Given the description of an element on the screen output the (x, y) to click on. 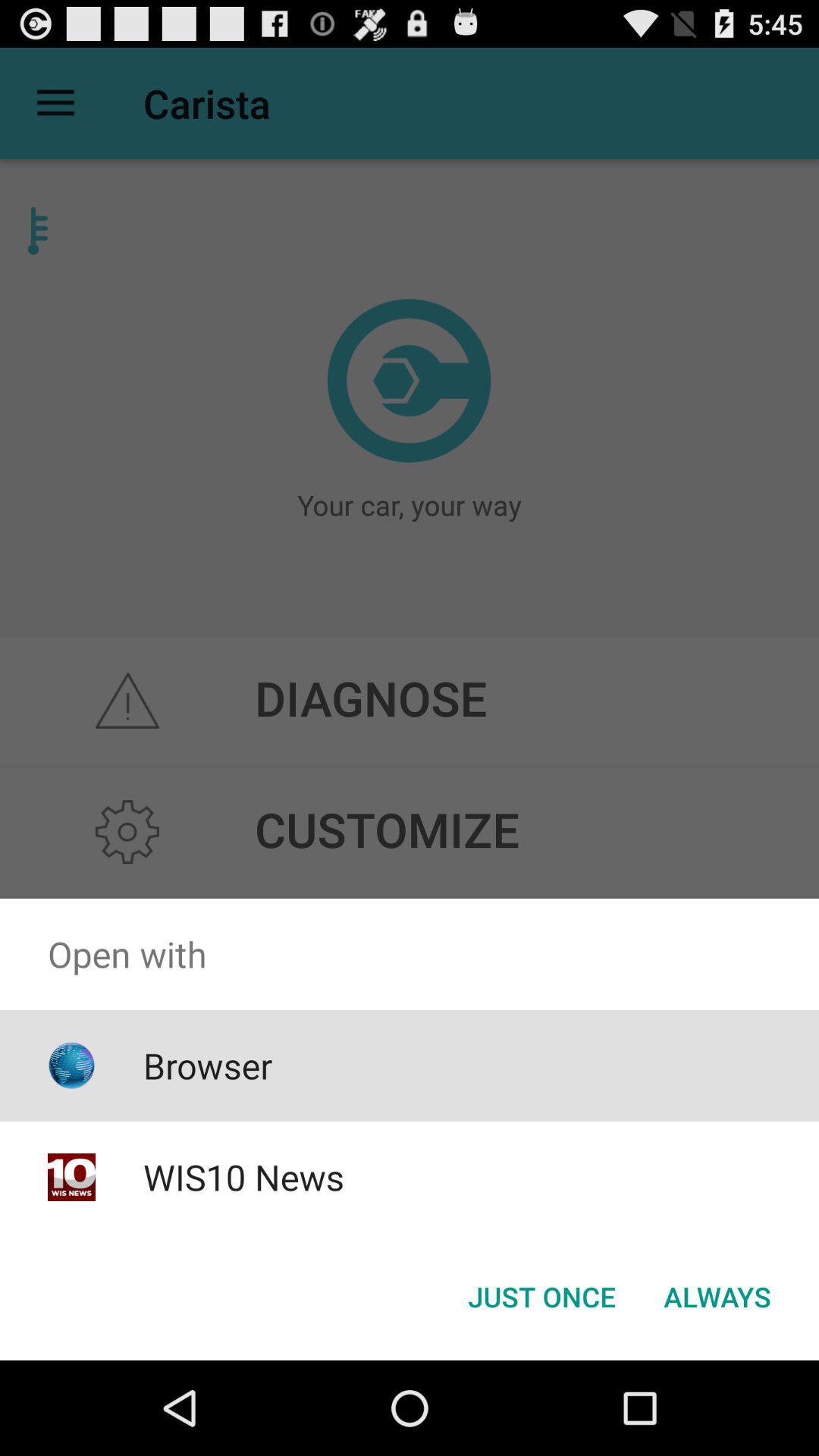
turn off the always icon (717, 1296)
